Given the description of an element on the screen output the (x, y) to click on. 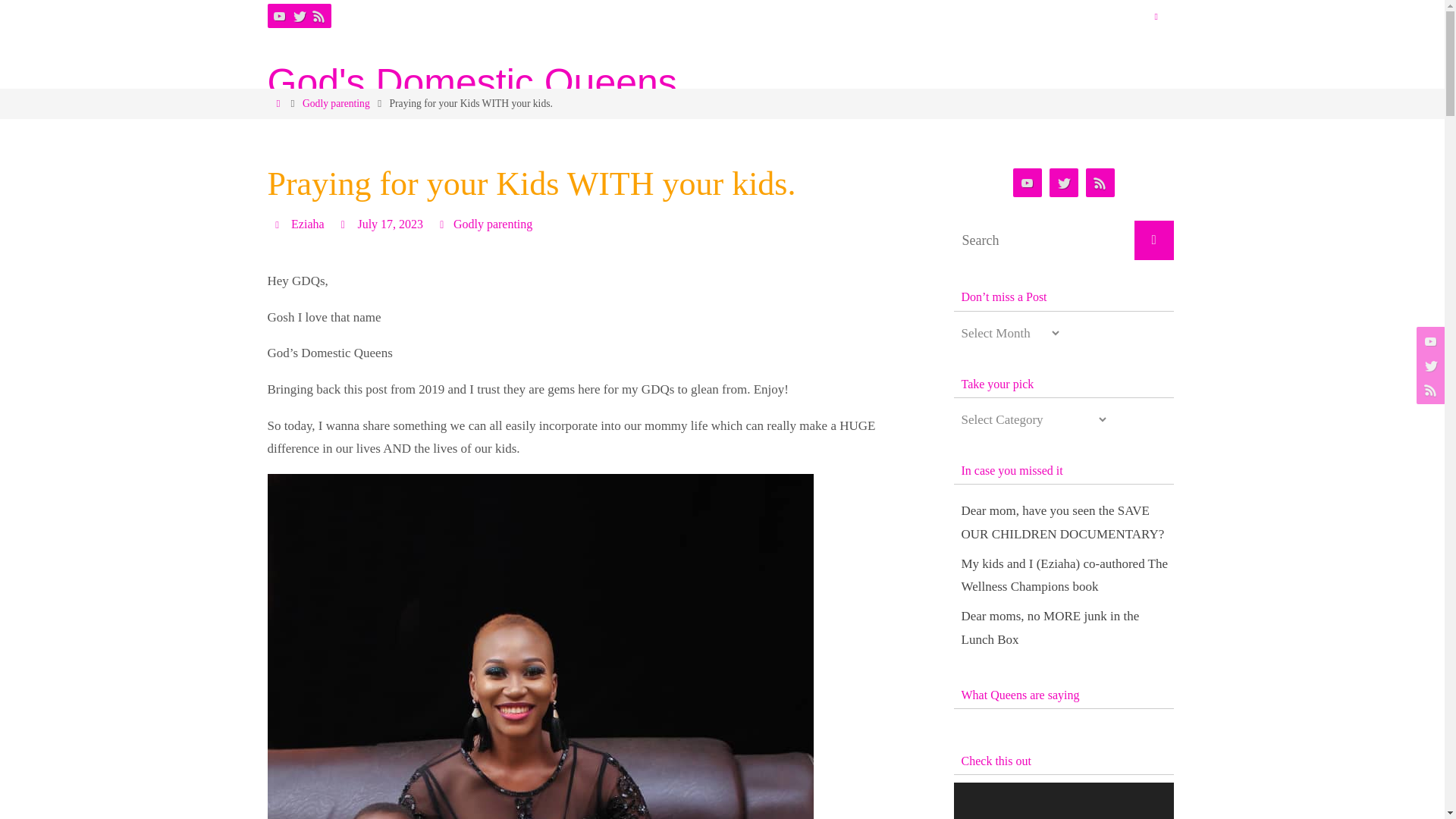
Author  (278, 223)
God's Domestic Queens (471, 82)
Categories (442, 223)
Eziaha (307, 223)
Twitter (298, 15)
Godly parenting (335, 102)
YouTube (278, 15)
View all posts by Eziaha (307, 223)
July 17, 2023 (389, 223)
Dear moms, no MORE junk in the Lunch Box (1050, 628)
Date (345, 223)
God's Domestic Queens (471, 82)
Search (1153, 240)
RSS (317, 15)
Dear mom, have you seen the SAVE OUR CHILDREN DOCUMENTARY? (1062, 522)
